Given the description of an element on the screen output the (x, y) to click on. 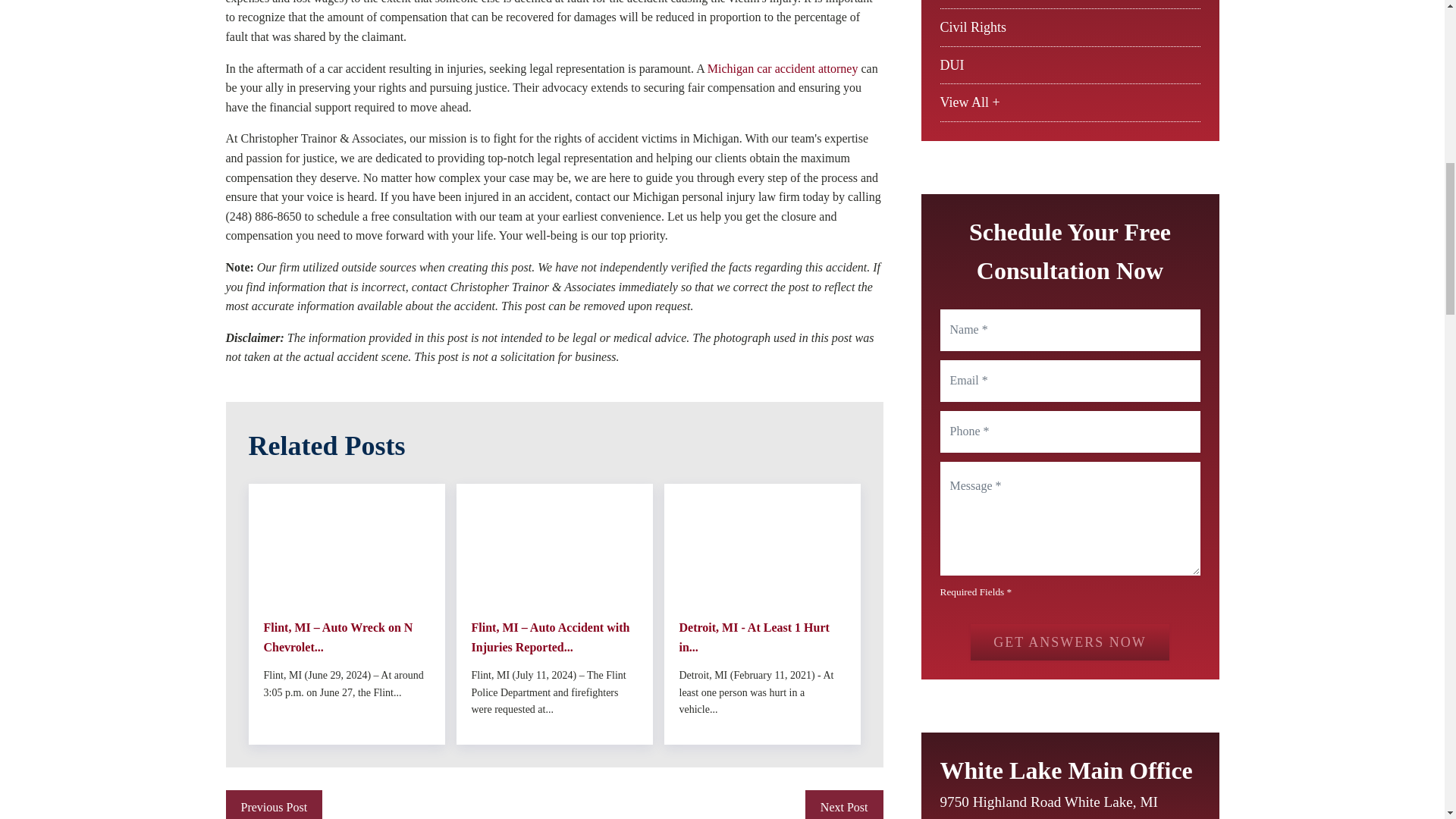
Detroit, MI - At Least 1 Hurt in... (762, 637)
9750 Highland Road White Lake, MI 48386 (1056, 804)
Get Answers Now (1070, 642)
DUI (951, 64)
Next Post (844, 804)
Get Answers Now (1070, 642)
Michigan car accident attorney (783, 68)
Civil Rights (973, 27)
Previous Post (274, 804)
